Given the description of an element on the screen output the (x, y) to click on. 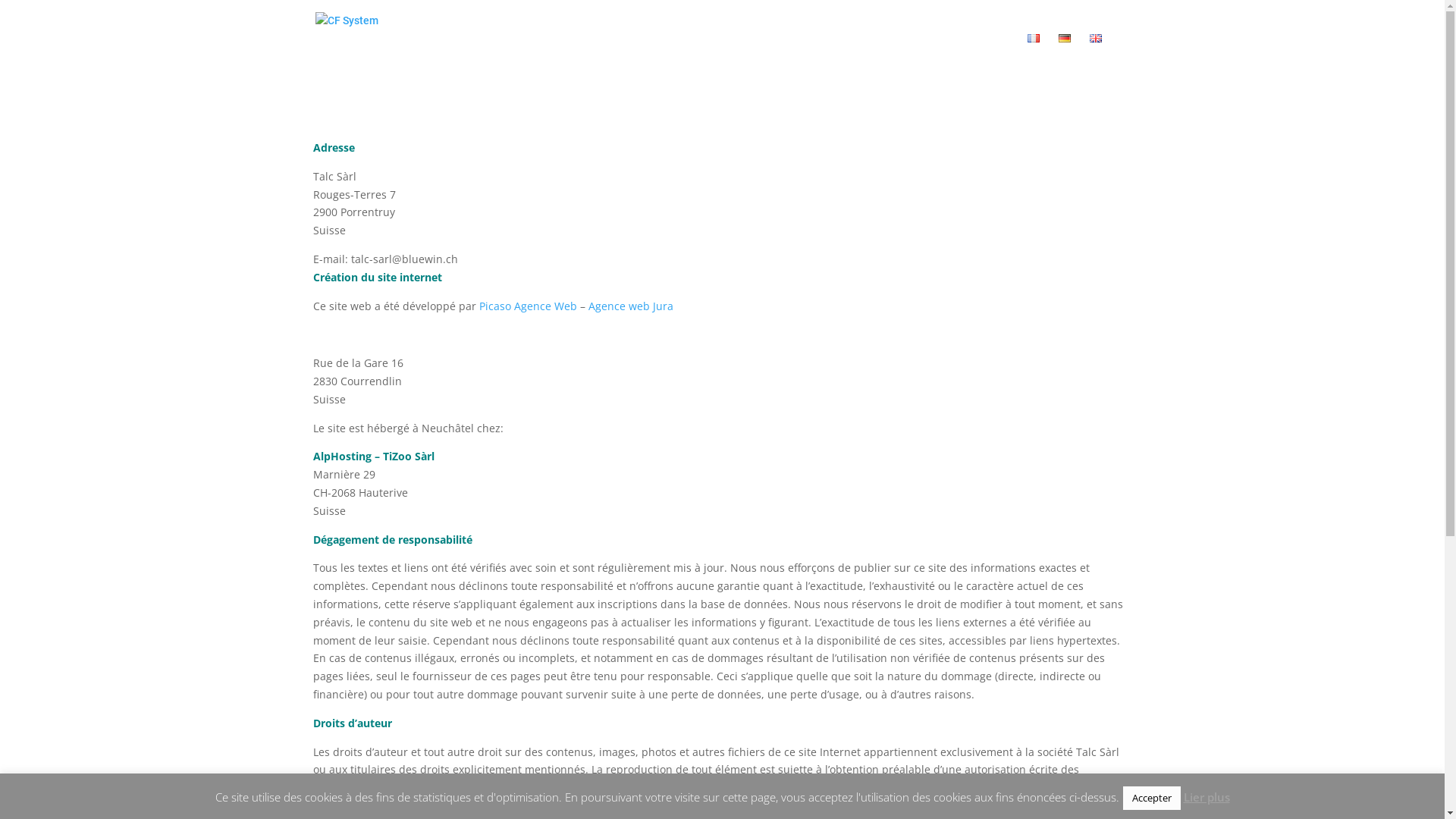
LE CONCEPT Element type: text (728, 55)
CONTACT Element type: text (894, 55)
Agence web Jura Element type: text (630, 305)
Picaso Agence Web Element type: text (528, 305)
Accepter Element type: text (1150, 797)
Lier plus Element type: text (1206, 797)
PRODUITS Element type: text (815, 55)
ACCUEIL Element type: text (652, 55)
DOCUMENTS Element type: text (972, 55)
